Given the description of an element on the screen output the (x, y) to click on. 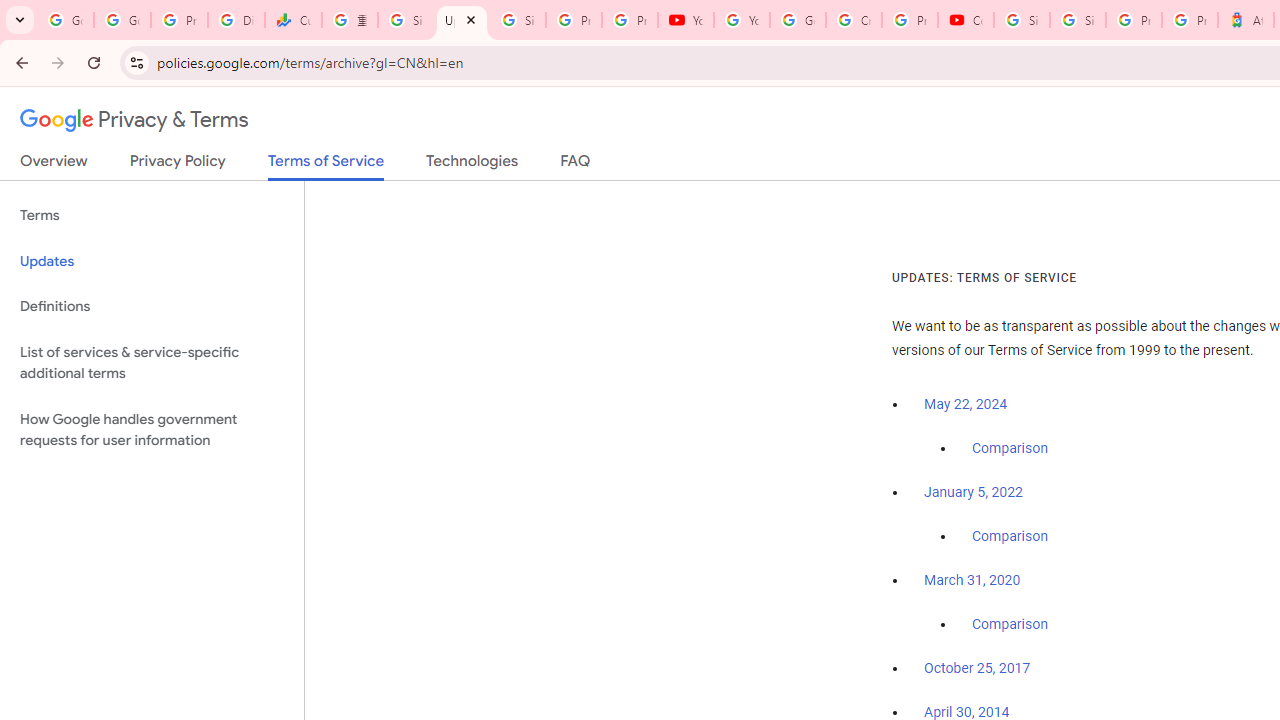
May 22, 2024 (966, 404)
Sign in - Google Accounts (1077, 20)
YouTube (742, 20)
October 25, 2017 (977, 669)
Comparison (1009, 625)
